Given the description of an element on the screen output the (x, y) to click on. 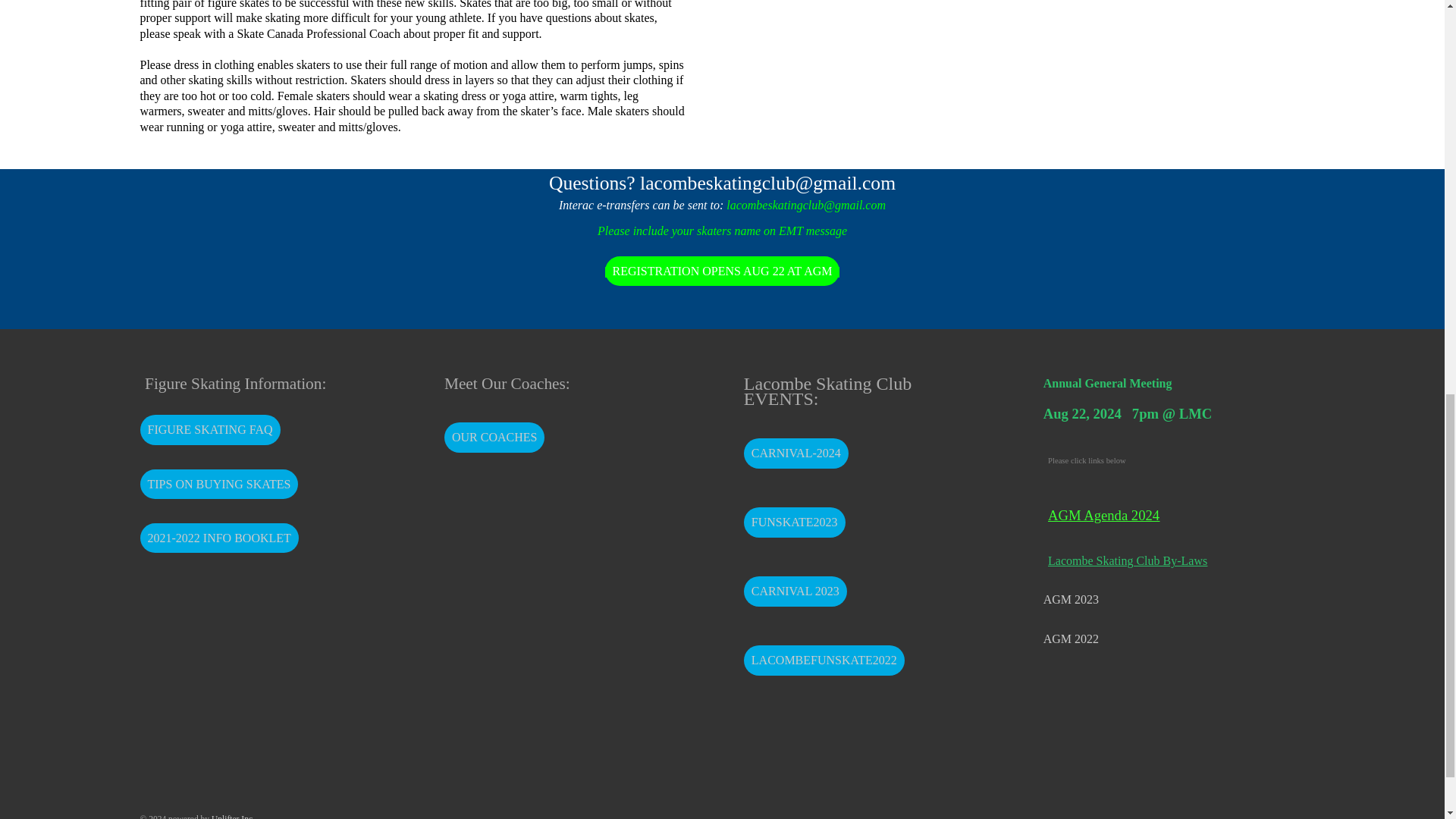
AGM Agenda 2024 (1103, 514)
2021-2022 INFO BOOKLET (218, 538)
CARNIVAL-2024 (796, 453)
CARNIVAL 2023 (795, 591)
Uplifter Inc. (232, 816)
REGISTRATION OPENS AUG 22 AT AGM (722, 271)
LACOMBEFUNSKATE2022 (824, 660)
FUNSKATE2023 (794, 521)
TIPS ON BUYING SKATES (218, 484)
OUR COACHES (494, 437)
Lacombe Skating Club By-Laws (1162, 561)
AGM 2022 (1071, 638)
FIGURE SKATING FAQ (209, 429)
AGM 2023 (1071, 599)
Funskate 2023 (794, 521)
